Given the description of an element on the screen output the (x, y) to click on. 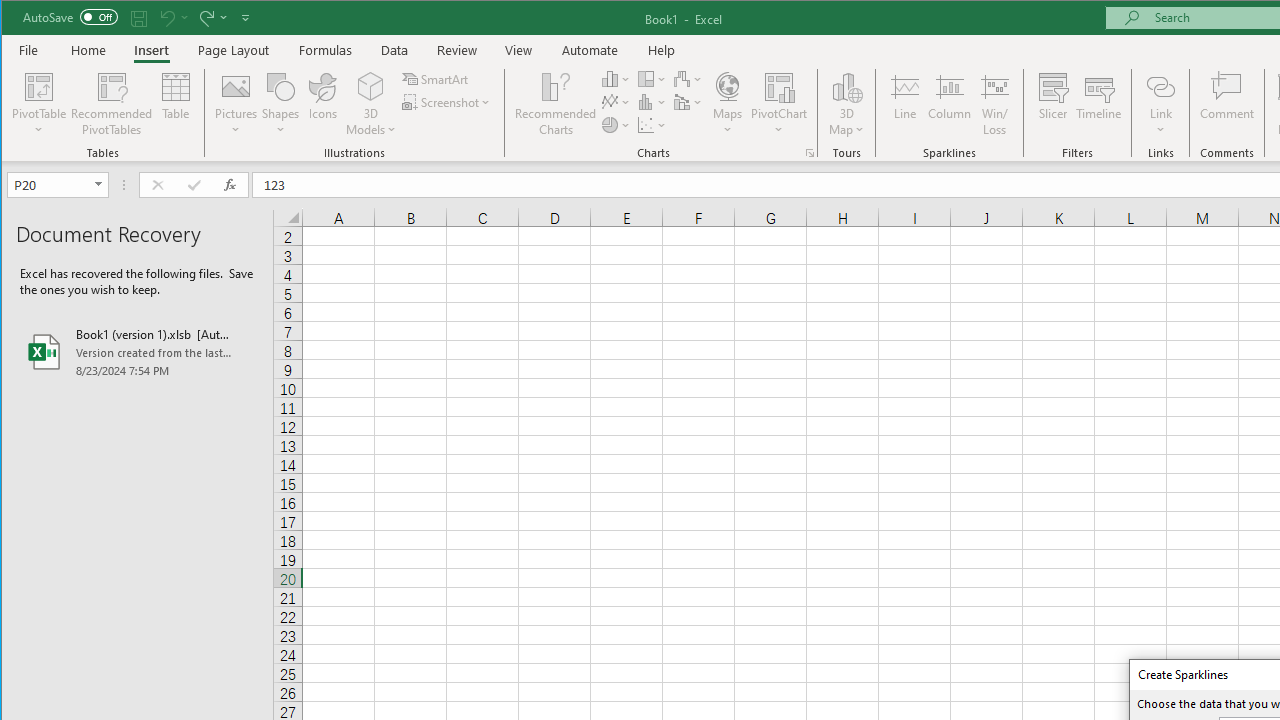
3D Map (846, 104)
PivotChart (779, 104)
Screenshot (447, 101)
Maps (727, 104)
Automate (589, 50)
View (518, 50)
Insert Line or Area Chart (616, 101)
More Options (1160, 123)
Insert Pie or Doughnut Chart (616, 124)
Book1 (version 1).xlsb  [AutoRecovered] (137, 352)
Data (395, 50)
Pictures (235, 104)
Save (139, 17)
Insert (151, 50)
